Given the description of an element on the screen output the (x, y) to click on. 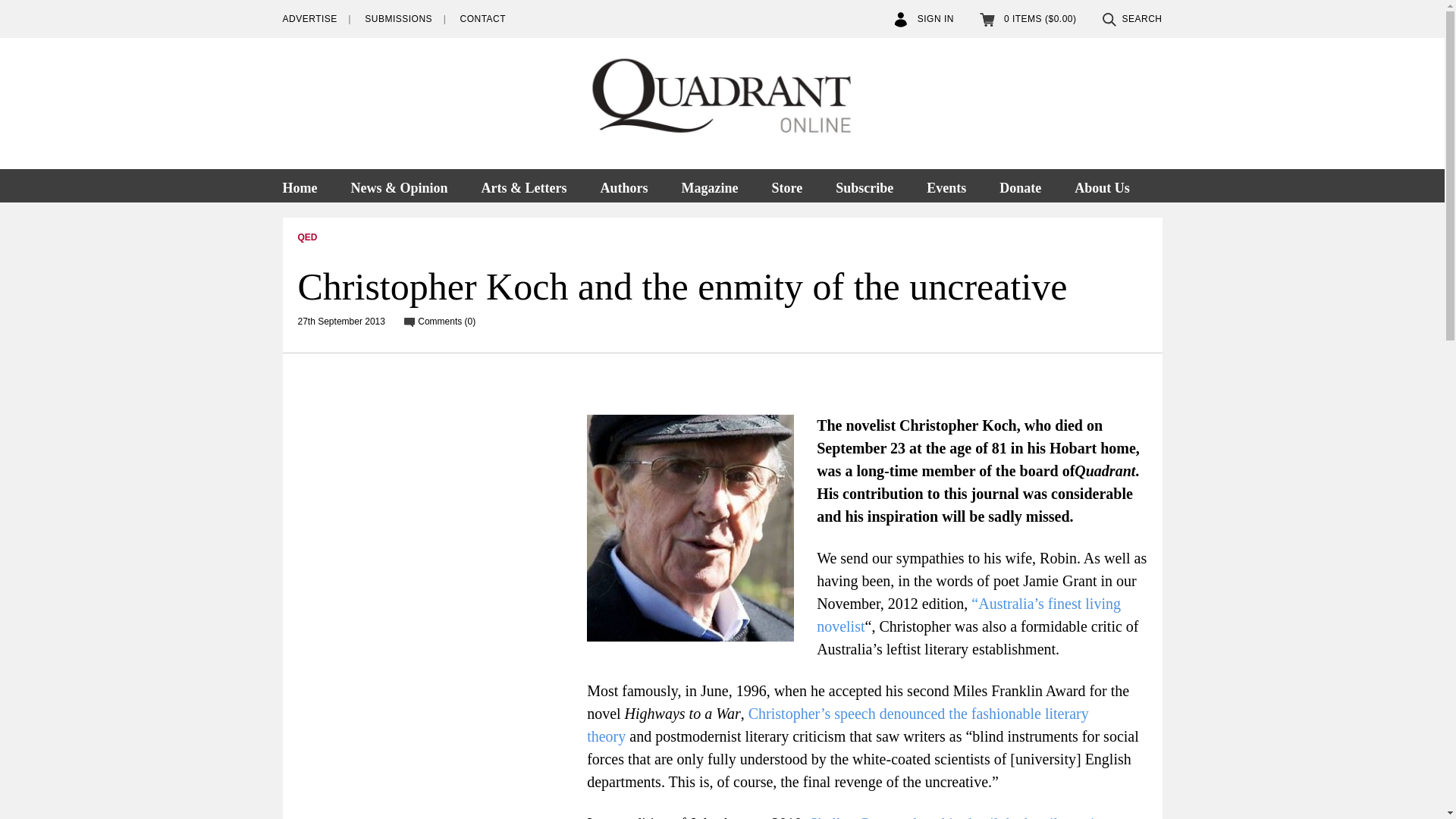
Authors (623, 185)
Home (306, 185)
Events (946, 185)
SUBMISSIONS (398, 18)
Donate (1020, 185)
About Us (1101, 185)
Subscribe (864, 185)
SEARCH (1131, 18)
SIGN IN (923, 18)
Magazine (708, 185)
CONTACT (482, 18)
ADVERTISE (309, 18)
Store (785, 185)
